Given the description of an element on the screen output the (x, y) to click on. 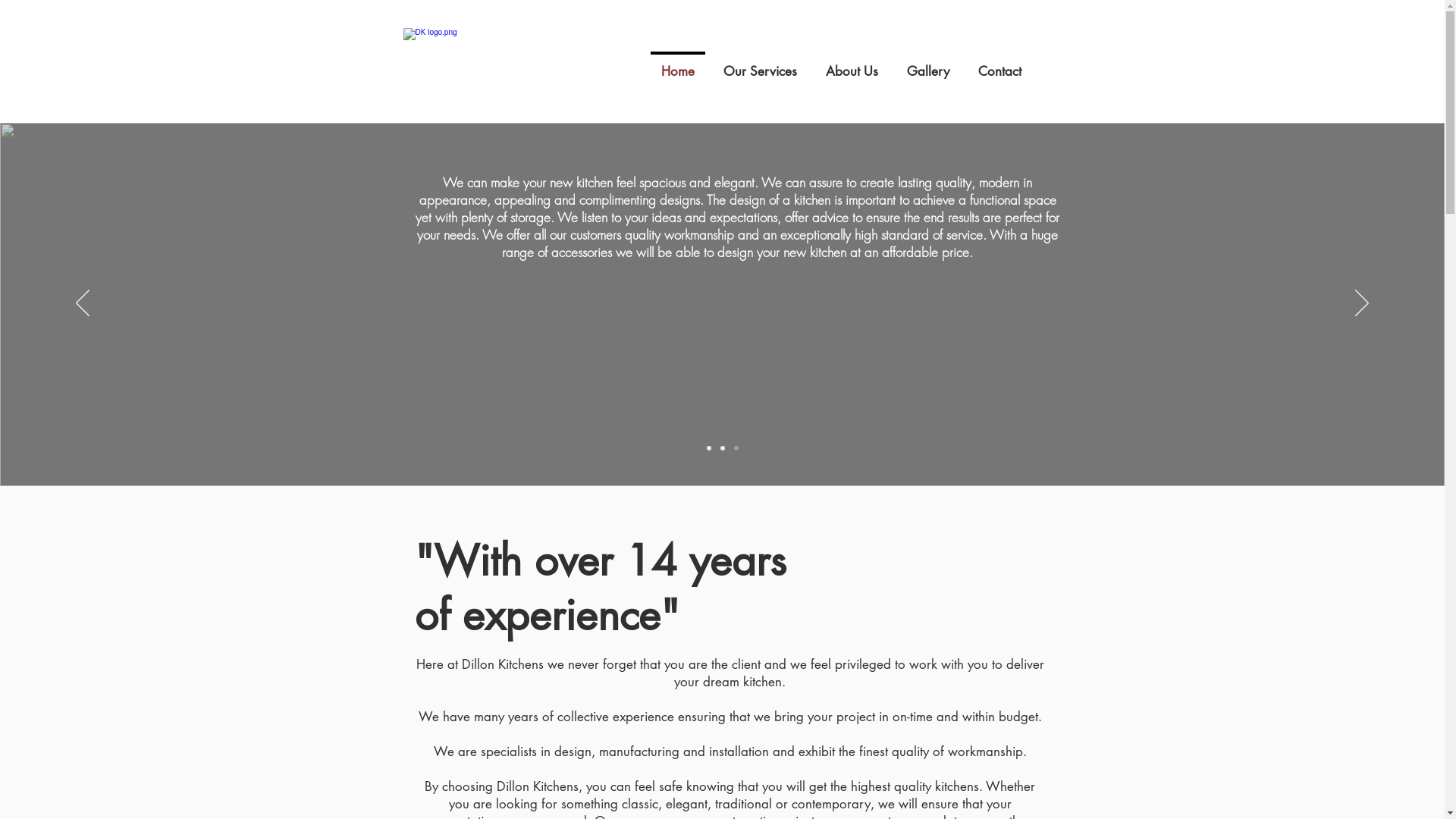
Site Search Element type: hover (696, 109)
About Us Element type: text (851, 64)
Home Element type: text (677, 64)
Our Services Element type: text (759, 64)
Gallery Element type: text (927, 64)
Contact Element type: text (999, 64)
